Given the description of an element on the screen output the (x, y) to click on. 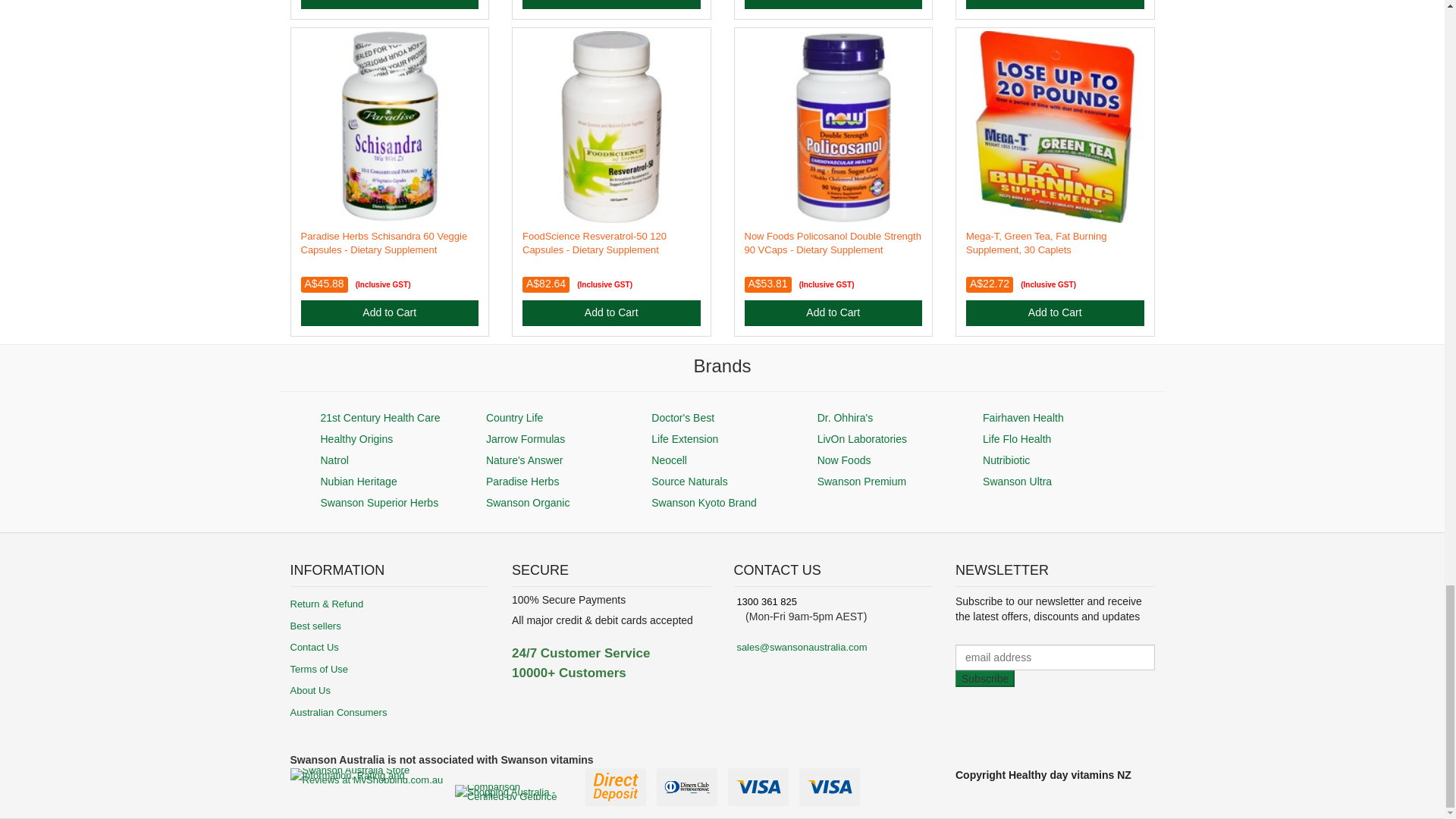
Add to Cart (389, 4)
Add to Cart (833, 4)
Add to Cart (611, 4)
Subscribe (984, 678)
